Given the description of an element on the screen output the (x, y) to click on. 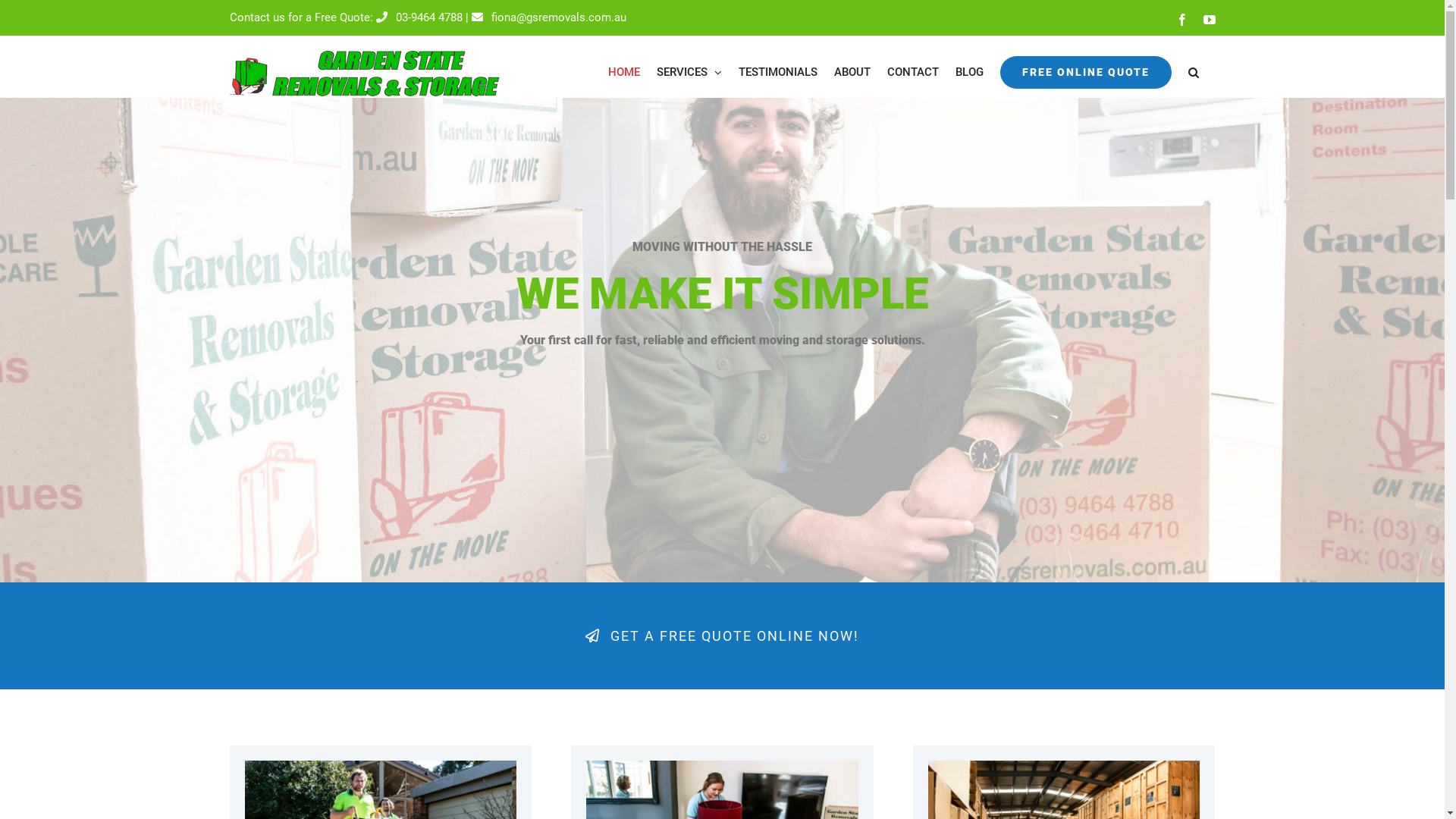
FREE ONLINE QUOTE Element type: text (1084, 72)
Facebook Element type: text (1181, 19)
03-9464 4788 Element type: text (419, 17)
fiona@gsremovals.com.au Element type: text (548, 17)
TESTIMONIALS Element type: text (777, 72)
ABOUT Element type: text (852, 72)
Search Element type: hover (1192, 72)
SERVICES Element type: text (688, 72)
YouTube Element type: text (1208, 19)
BLOG Element type: text (969, 72)
CONTACT Element type: text (912, 72)
GET A FREE QUOTE ONLINE NOW! Element type: text (722, 635)
HOME Element type: text (624, 72)
